Given the description of an element on the screen output the (x, y) to click on. 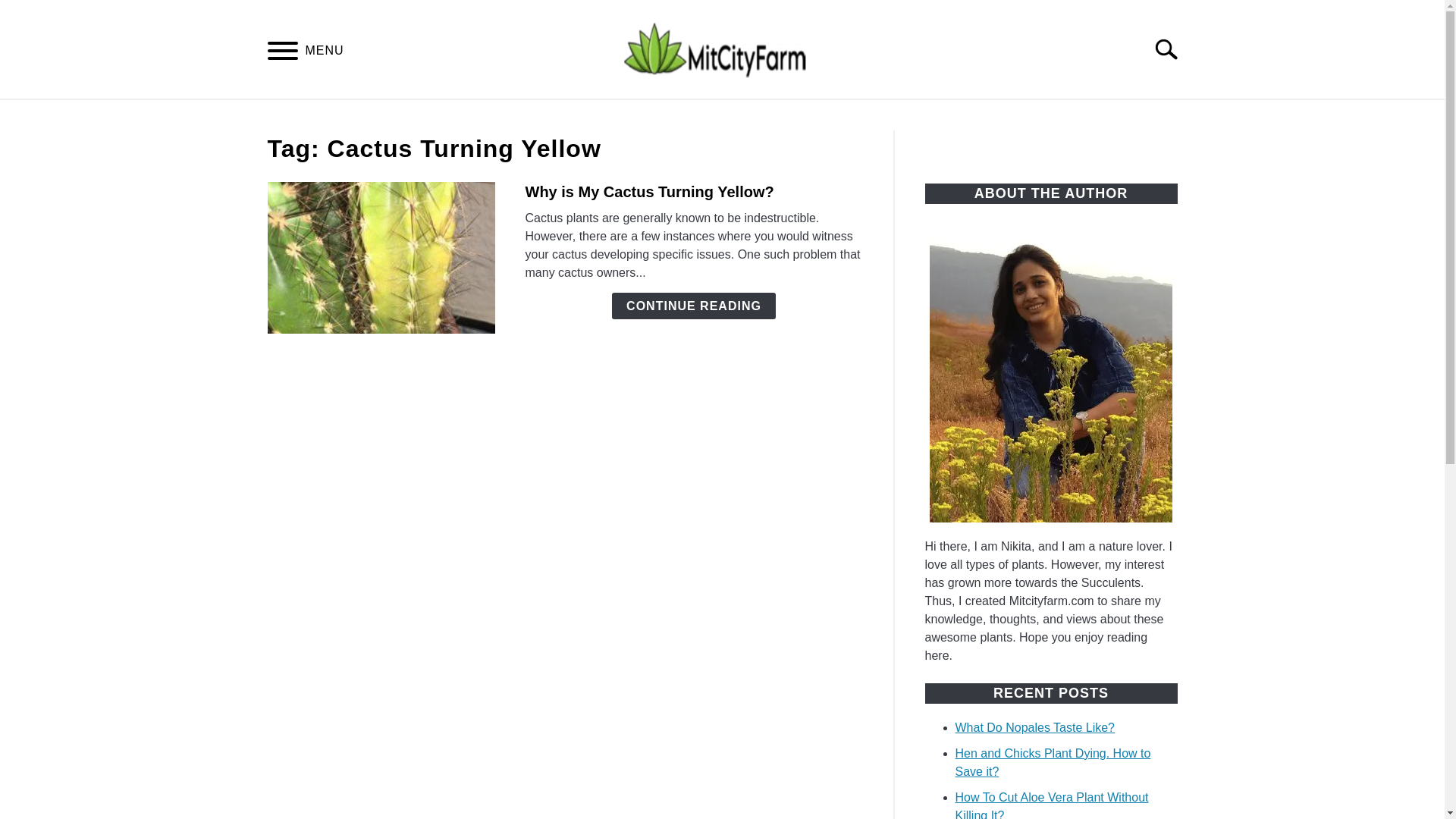
MENU (282, 53)
Hen and Chicks Plant Dying. How to Save it? (1053, 762)
What Do Nopales Taste Like? (1035, 727)
Why is My Cactus Turning Yellow? (648, 191)
Search (1172, 49)
How To Cut Aloe Vera Plant Without Killing It? (1051, 805)
CONTINUE READING (693, 305)
